Given the description of an element on the screen output the (x, y) to click on. 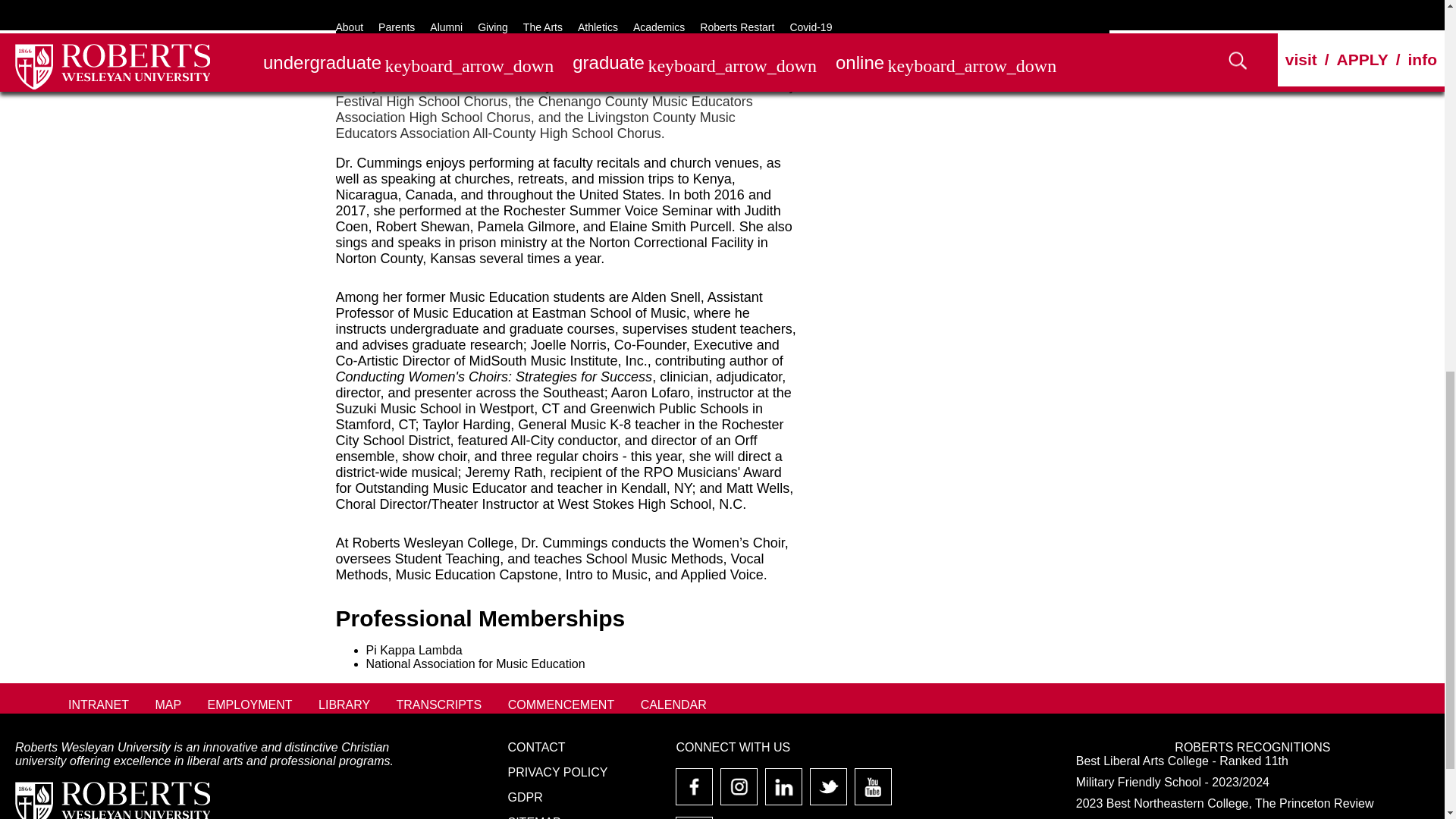
Follow us on Facebook (694, 792)
Follow us on Instagram (739, 792)
Follow us on YouTube (873, 792)
Follow us on Twitter (828, 792)
Follow us on LinkedIn (783, 792)
